Given the description of an element on the screen output the (x, y) to click on. 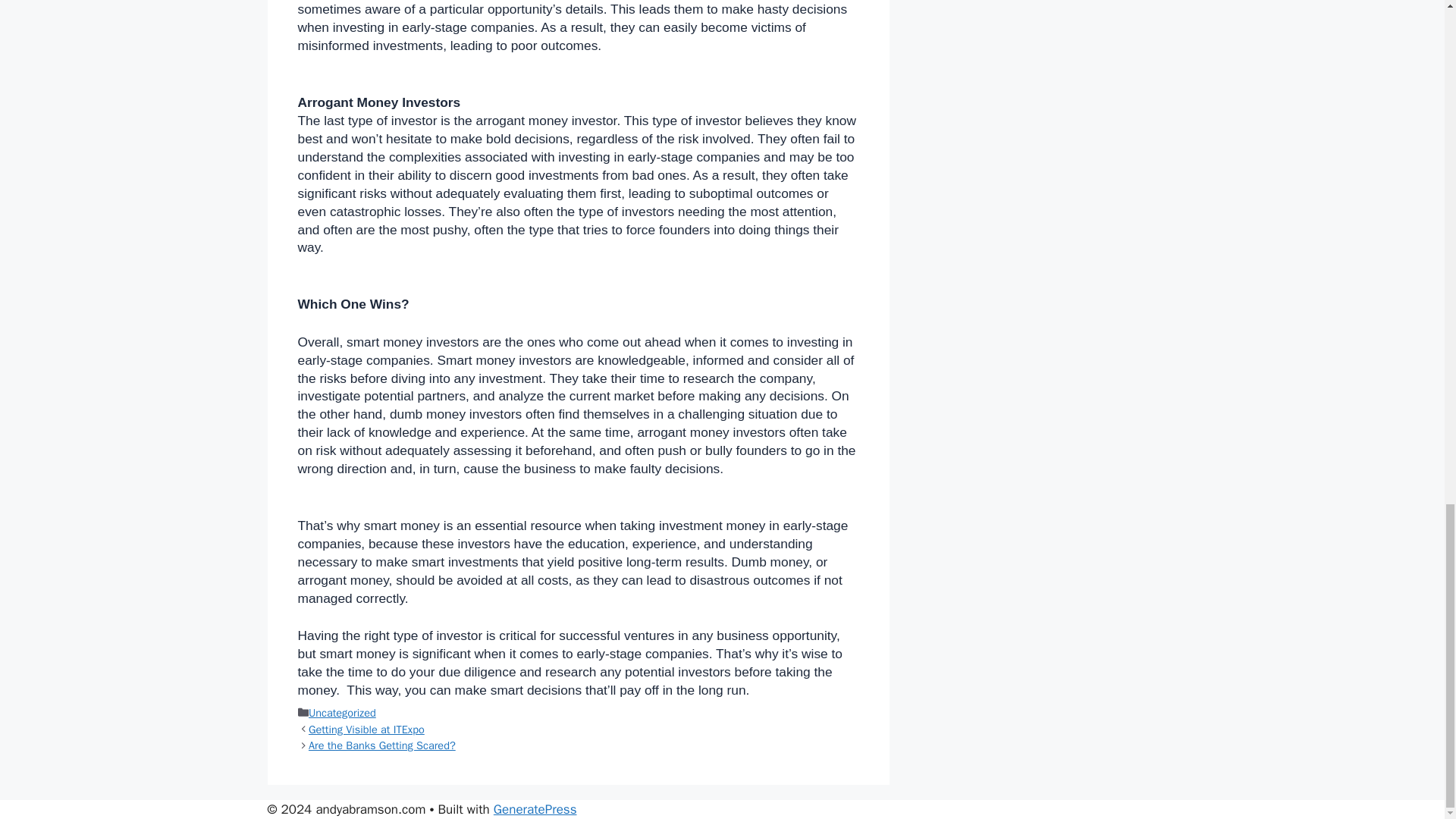
GeneratePress (534, 809)
Getting Visible at ITExpo (366, 729)
Are the Banks Getting Scared? (381, 745)
Uncategorized (341, 712)
